Given the description of an element on the screen output the (x, y) to click on. 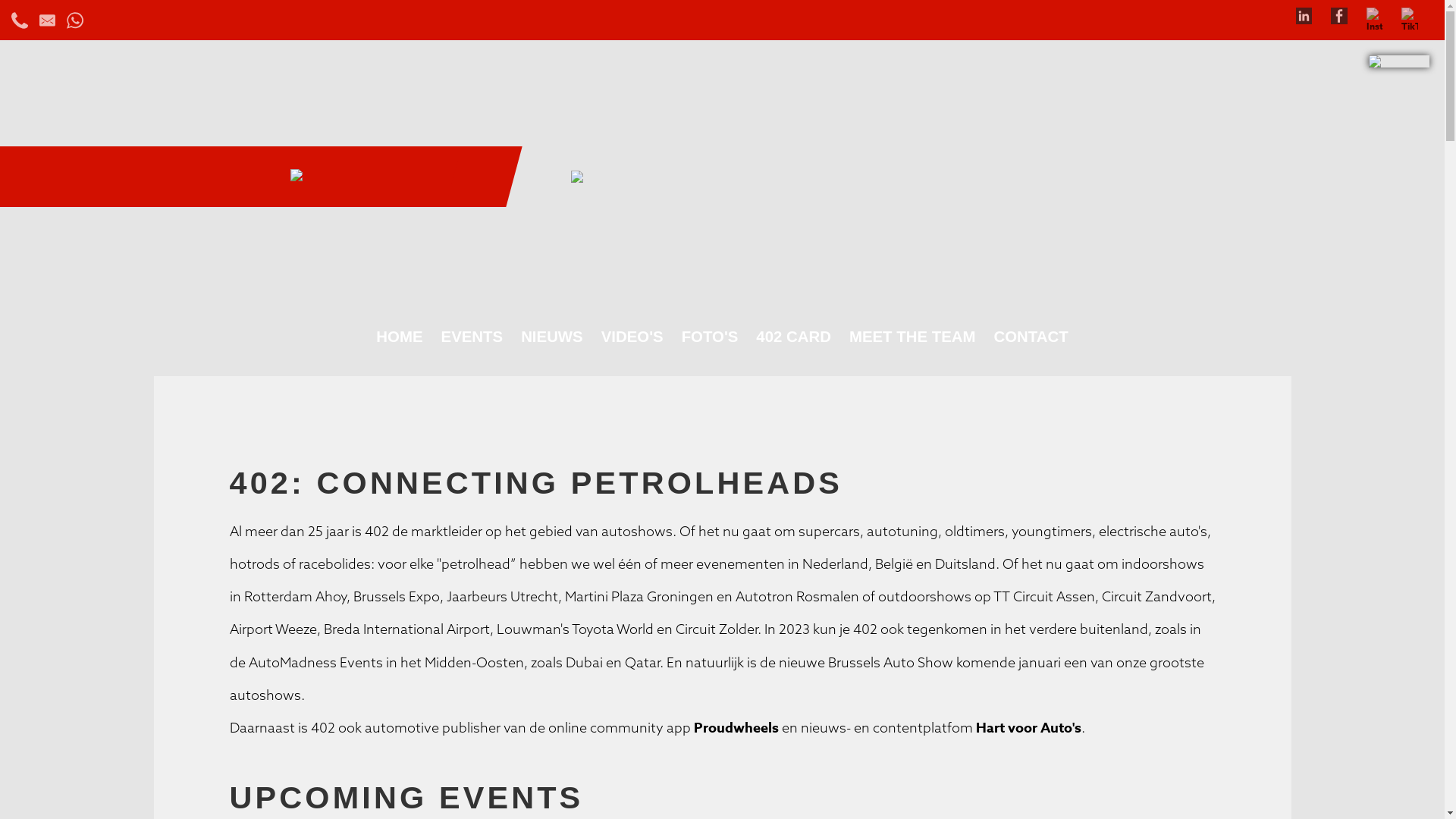
LinkedIN Element type: hover (1303, 13)
TikTok Element type: hover (1409, 13)
NIEUWS Element type: text (551, 336)
402 CARD Element type: text (793, 336)
MEET THE TEAM Element type: text (912, 336)
CONTACT Element type: text (1030, 336)
Proudwheels Element type: text (735, 727)
Facebook Element type: hover (1338, 13)
FOTO'S Element type: text (709, 336)
EVENTS Element type: text (472, 336)
Instagram Element type: hover (1374, 13)
HOME Element type: text (399, 336)
VIDEO'S Element type: text (632, 336)
Whatsapp Element type: hover (74, 18)
Bel Element type: hover (19, 18)
Email Element type: hover (47, 18)
Hart voor Auto's Element type: text (1026, 727)
